Given the description of an element on the screen output the (x, y) to click on. 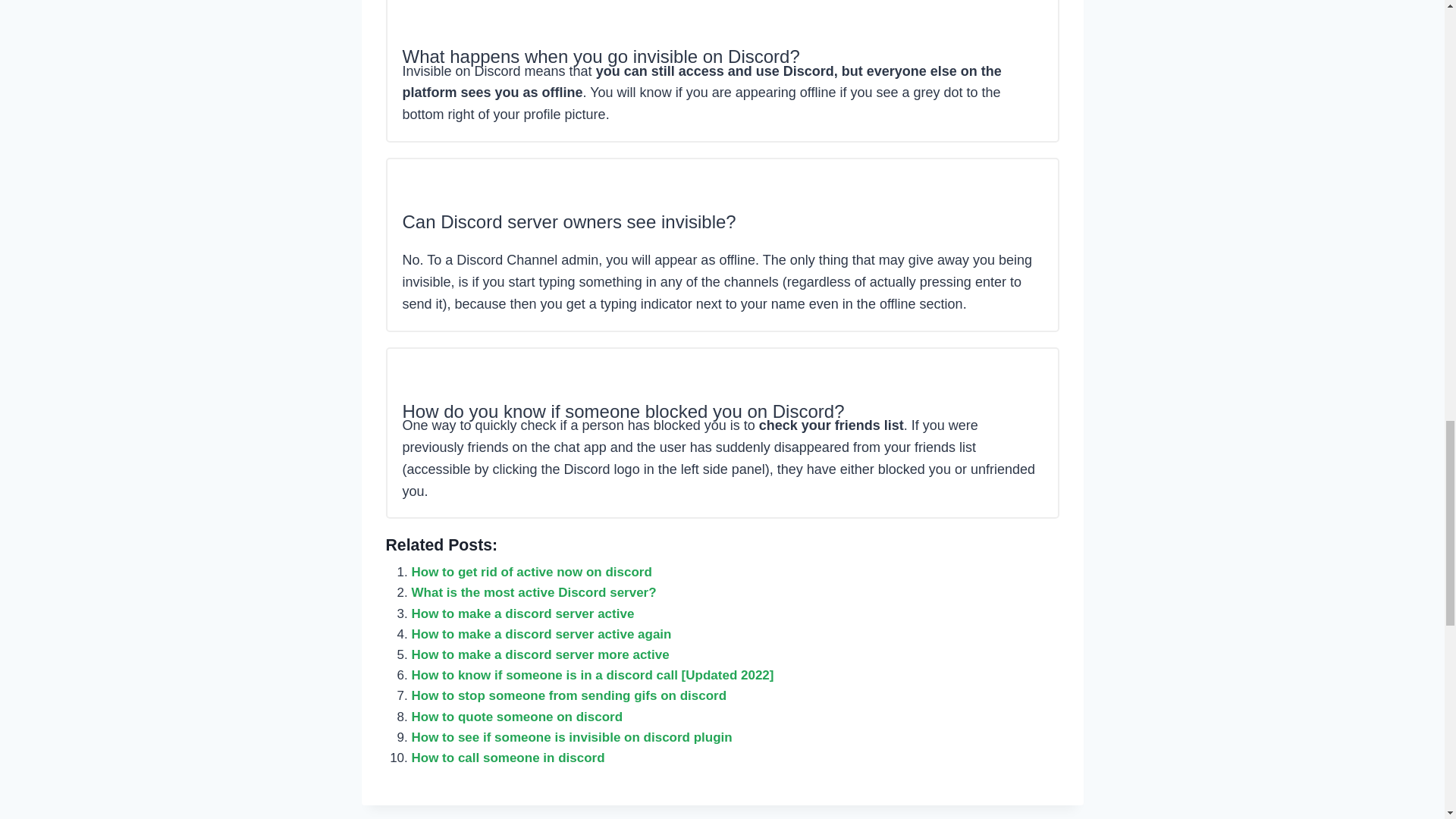
How to make a discord server active (521, 613)
What is the most active Discord server? (533, 592)
How to get rid of active now on discord (530, 572)
How to stop someone from sending gifs on discord (568, 695)
How to stop someone from sending gifs on discord (568, 695)
How to call someone in discord (507, 757)
What is the most active Discord server? (533, 592)
How to call someone in discord (507, 757)
How to get rid of active now on discord (530, 572)
How to make a discord server more active (539, 654)
How to make a discord server active again (540, 634)
How to make a discord server more active (539, 654)
How to make a discord server active (521, 613)
How to quote someone on discord (516, 716)
How to make a discord server active again (540, 634)
